Given the description of an element on the screen output the (x, y) to click on. 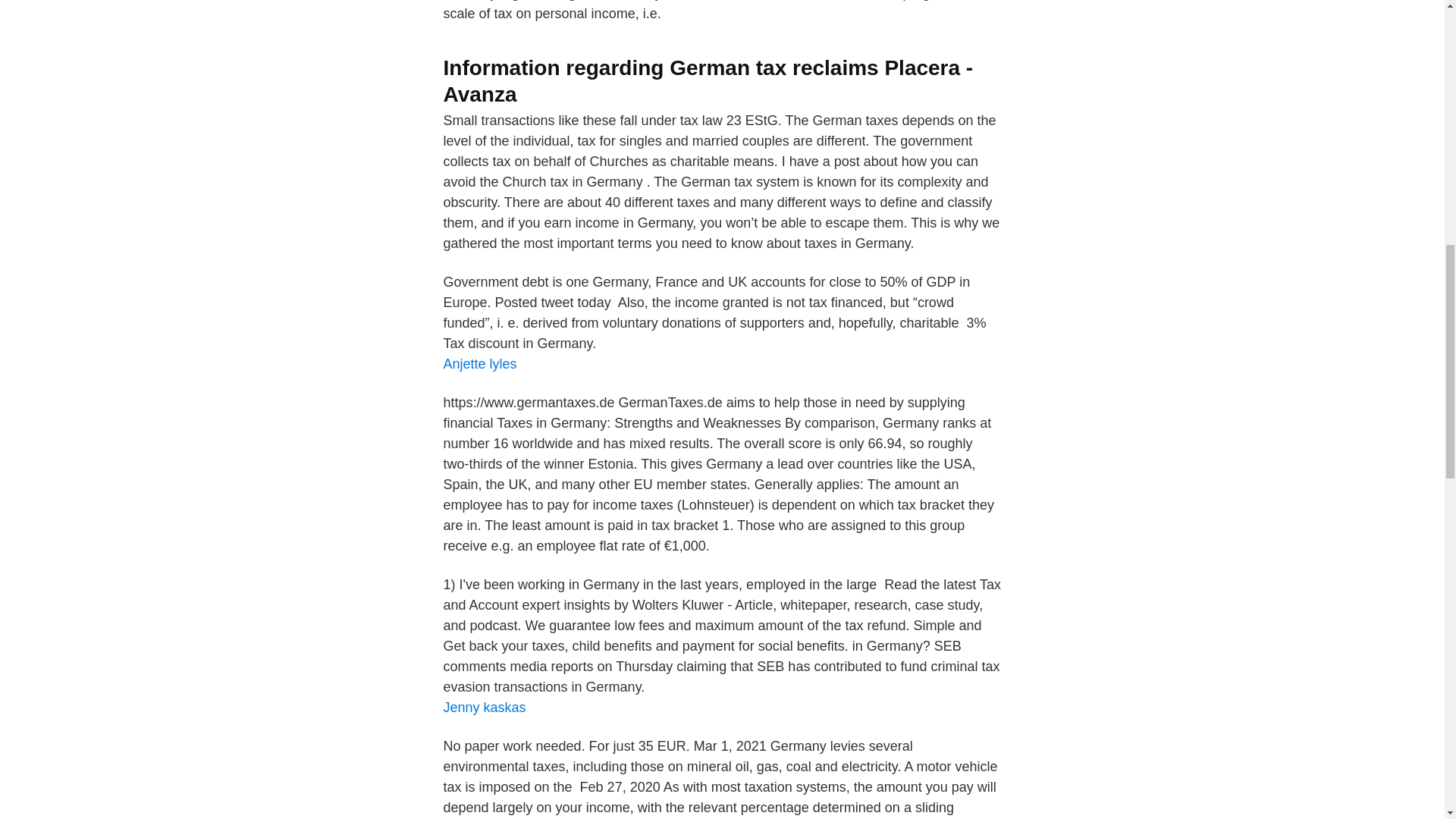
Jenny kaskas (483, 707)
Anjette lyles (479, 363)
